Given the description of an element on the screen output the (x, y) to click on. 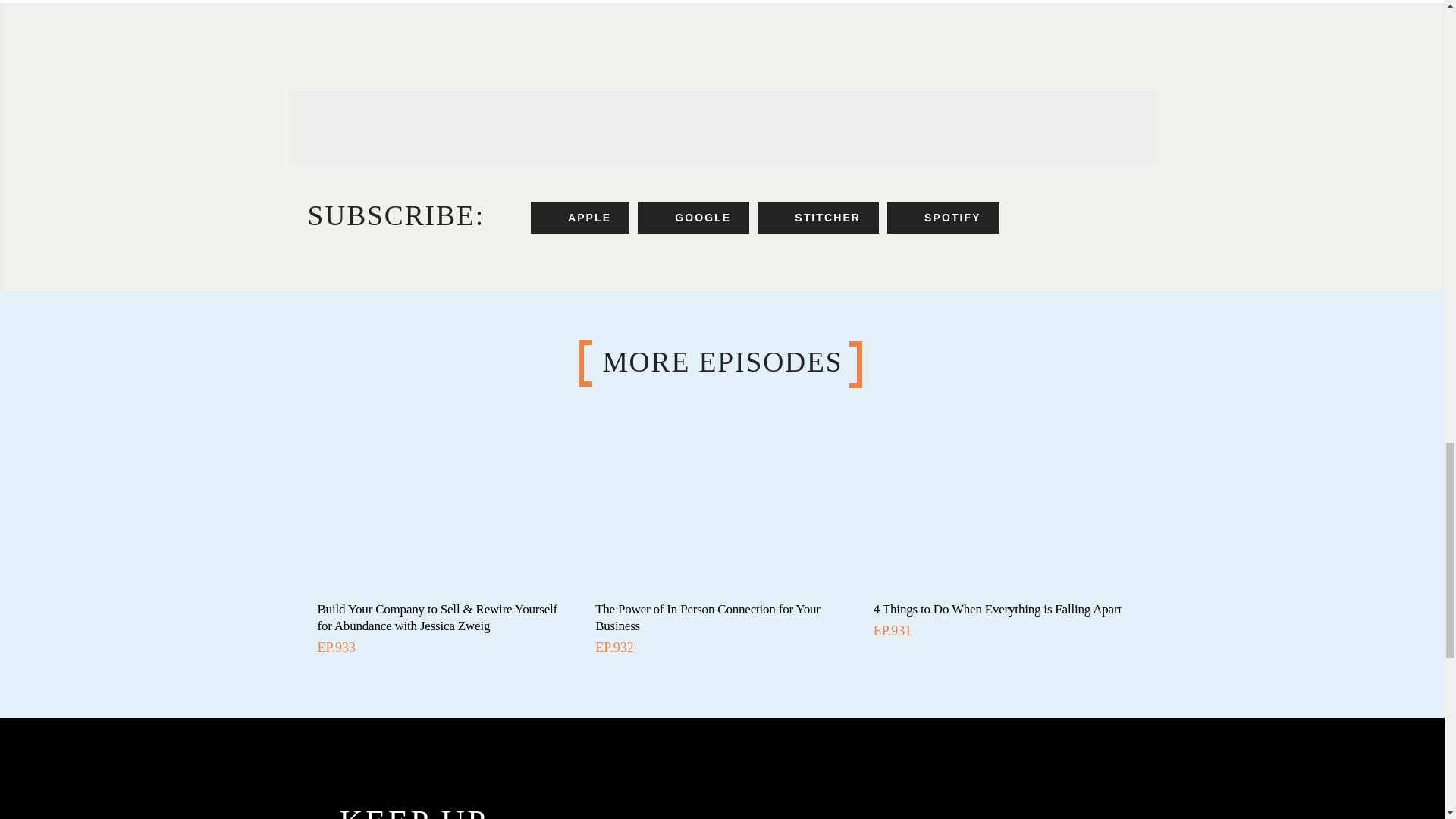
4 Things to Do When Everything is Falling Apart (997, 608)
SPOTIFY (942, 217)
GOOGLE (693, 217)
STITCHER (818, 217)
APPLE (579, 217)
The Power of In Person Connection for Your Business (708, 617)
